Given the description of an element on the screen output the (x, y) to click on. 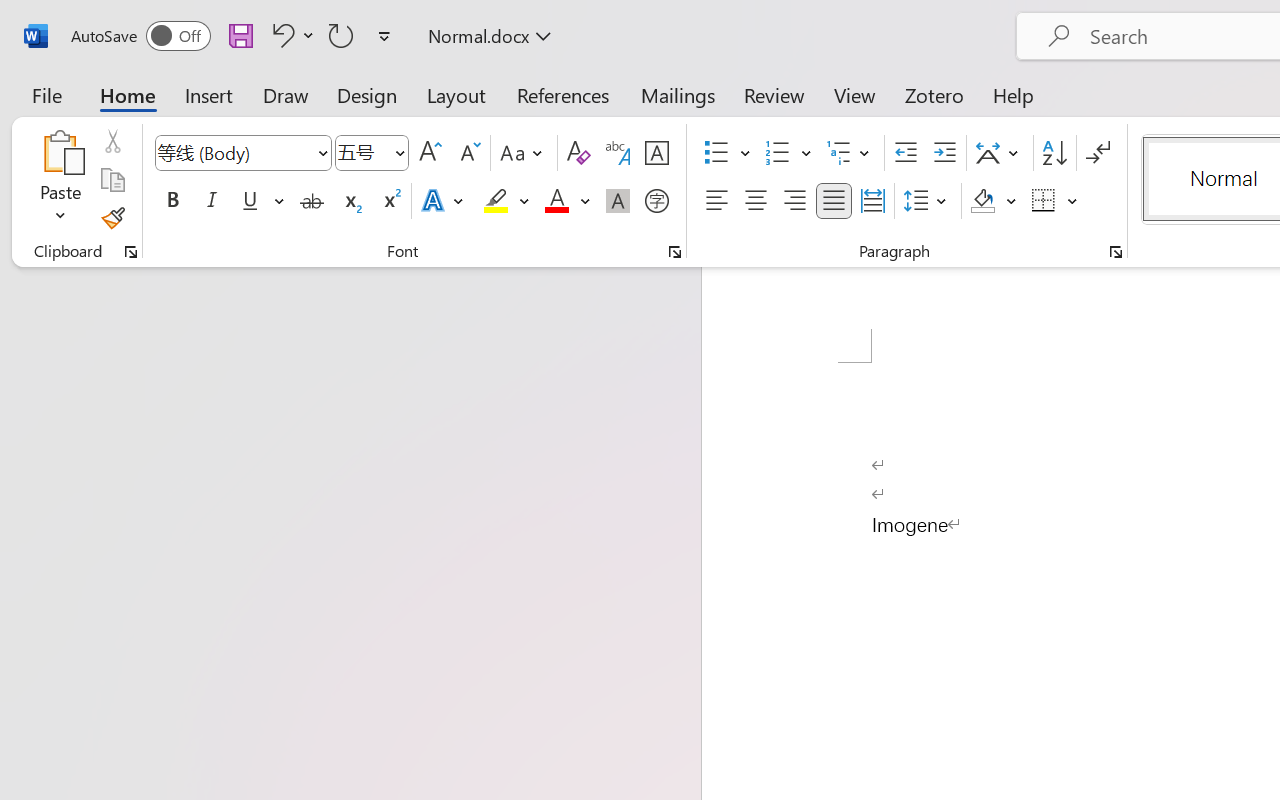
Format Painter (112, 218)
Subscript (350, 201)
Undo Style (290, 35)
Phonetic Guide... (618, 153)
Text Effects and Typography (444, 201)
Line and Paragraph Spacing (927, 201)
Asian Layout (1000, 153)
Font Color (567, 201)
